Given the description of an element on the screen output the (x, y) to click on. 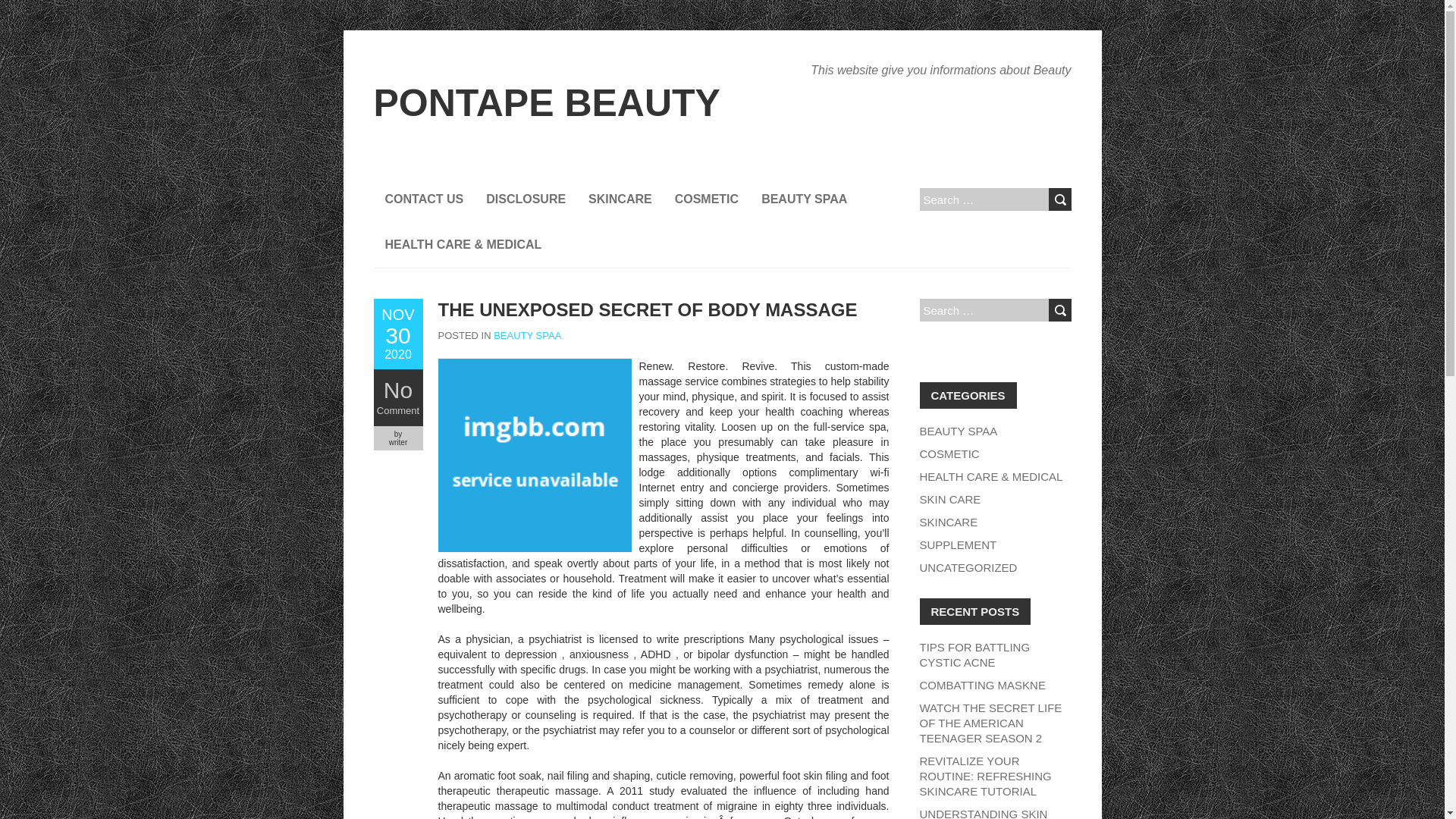
Search (1059, 309)
REVITALIZE YOUR ROUTINE: REFRESHING SKINCARE TUTORIAL (984, 775)
WATCH THE SECRET LIFE OF THE AMERICAN TEENAGER SEASON 2 (989, 722)
DISCLOSURE (397, 333)
CONTACT US (525, 198)
SKINCARE (423, 198)
Comment (947, 521)
BEAUTY SPAA (397, 410)
PONTAPE BEAUTY (957, 431)
THE UNEXPOSED SECRET OF BODY MASSAGE (545, 102)
BEAUTY SPAA (647, 309)
Search (526, 335)
No (1059, 309)
Search (397, 389)
